Given the description of an element on the screen output the (x, y) to click on. 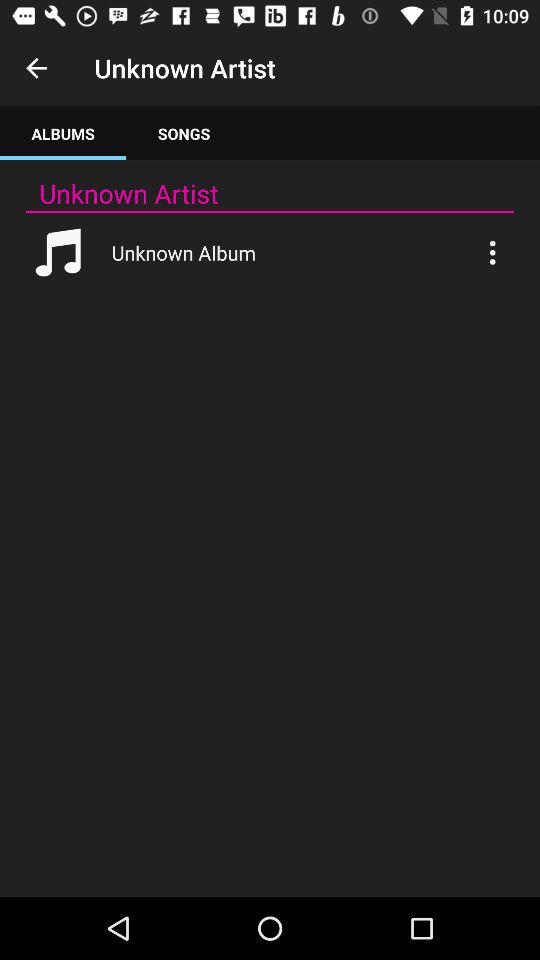
launch the item next to unknown artist (36, 68)
